Given the description of an element on the screen output the (x, y) to click on. 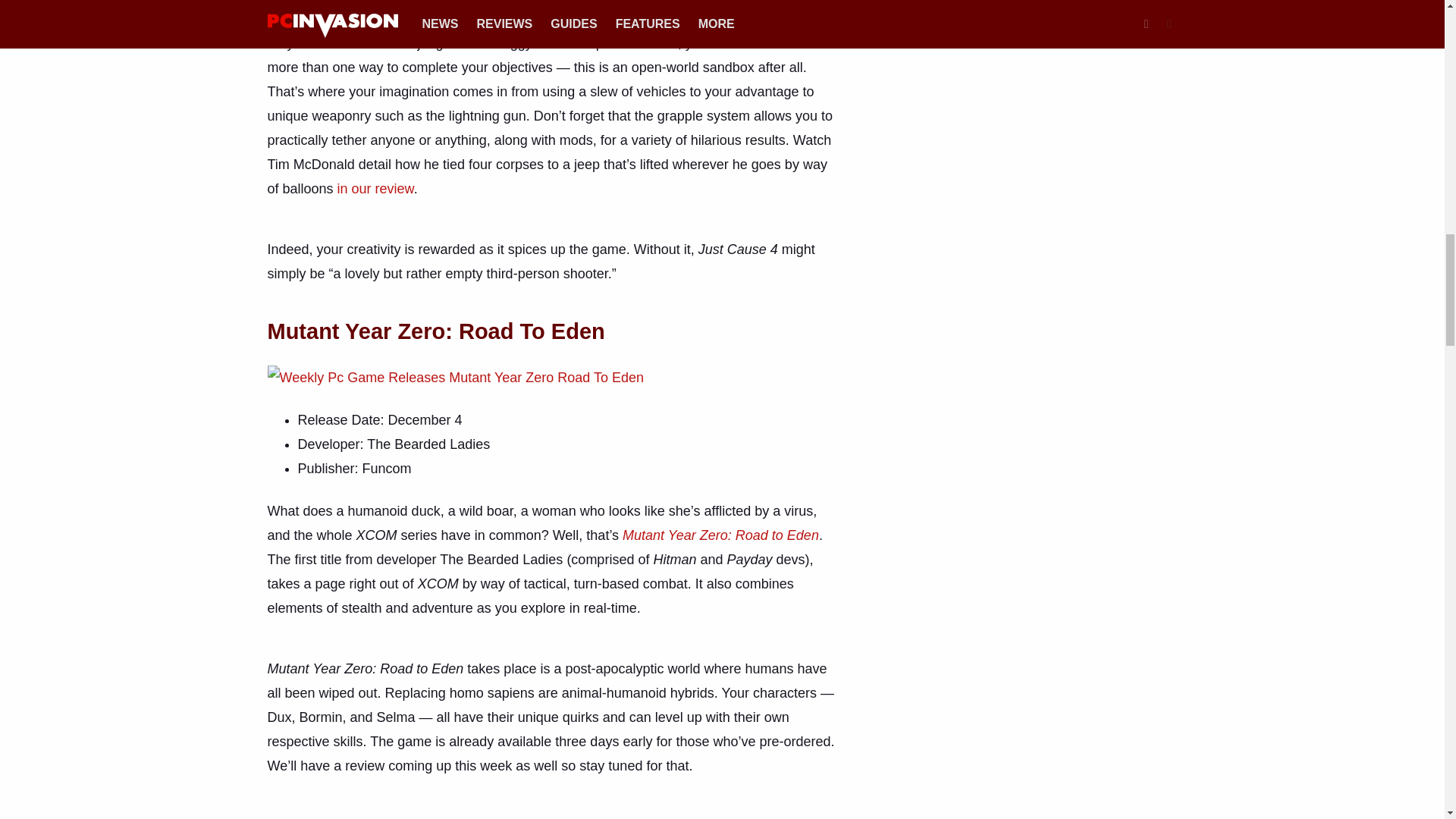
in our review (375, 188)
